Given the description of an element on the screen output the (x, y) to click on. 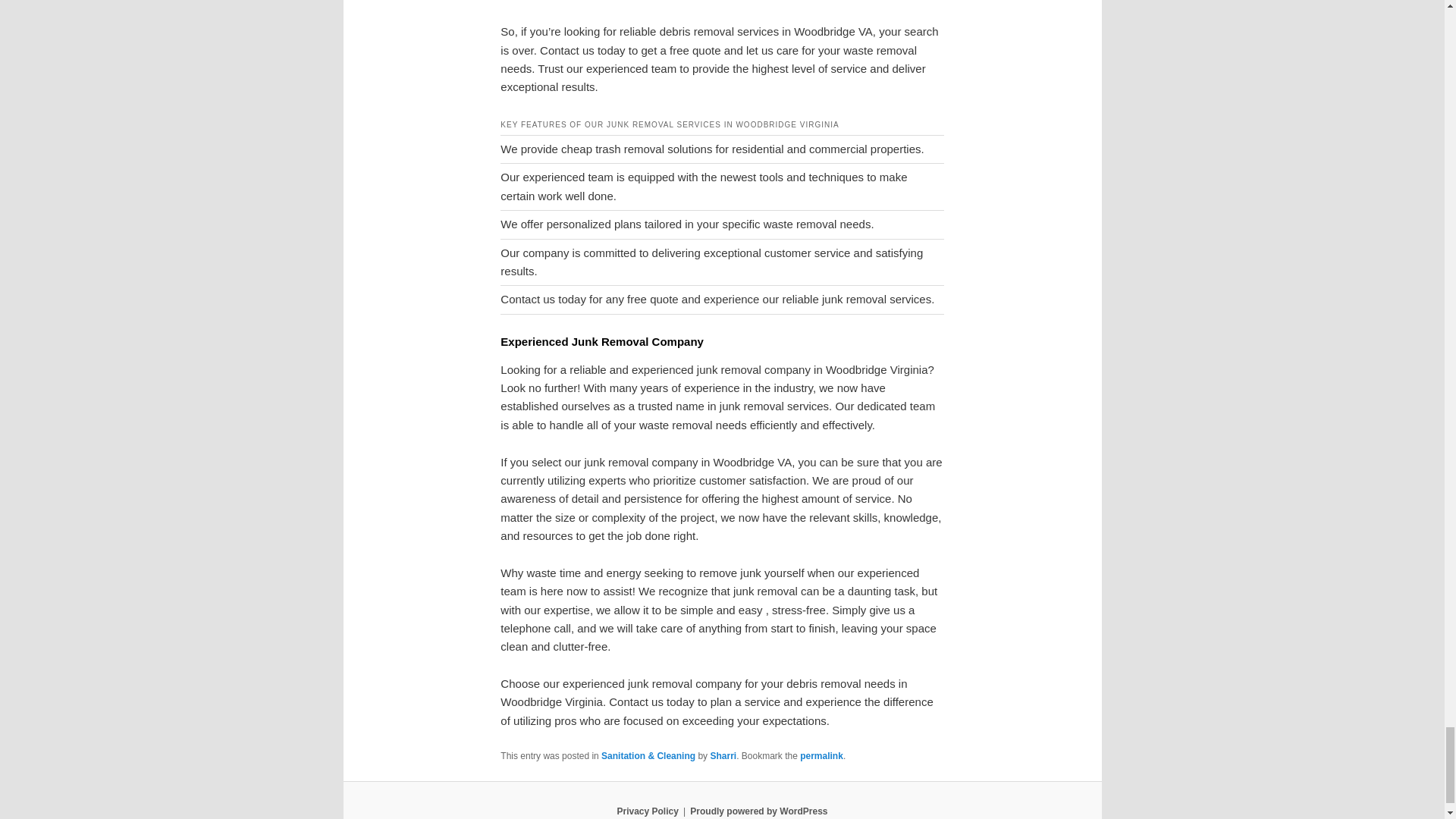
Proudly powered by WordPress (758, 810)
Privacy Policy (646, 810)
permalink (821, 756)
Sharri (723, 756)
Semantic Personal Publishing Platform (758, 810)
